Given the description of an element on the screen output the (x, y) to click on. 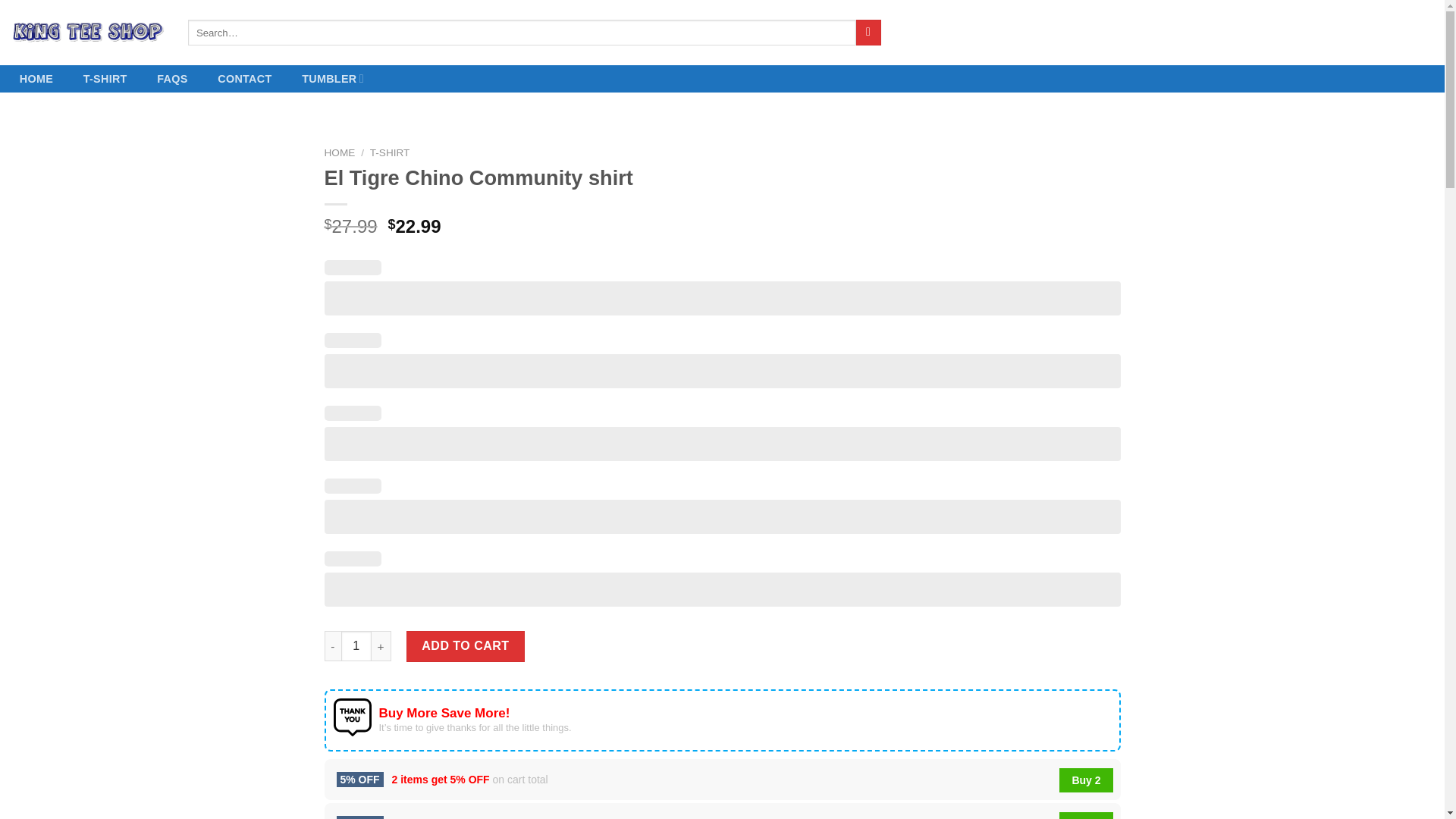
HOME (339, 152)
Cart (1387, 32)
TUMBLER (332, 78)
T-SHIRT (105, 78)
Search (868, 32)
FAQS (171, 78)
HOME (36, 78)
CONTACT (244, 78)
T-SHIRT (389, 152)
KING TEE STORE (88, 32)
ADD TO CART (465, 645)
Qty (355, 645)
1 (355, 645)
